Given the description of an element on the screen output the (x, y) to click on. 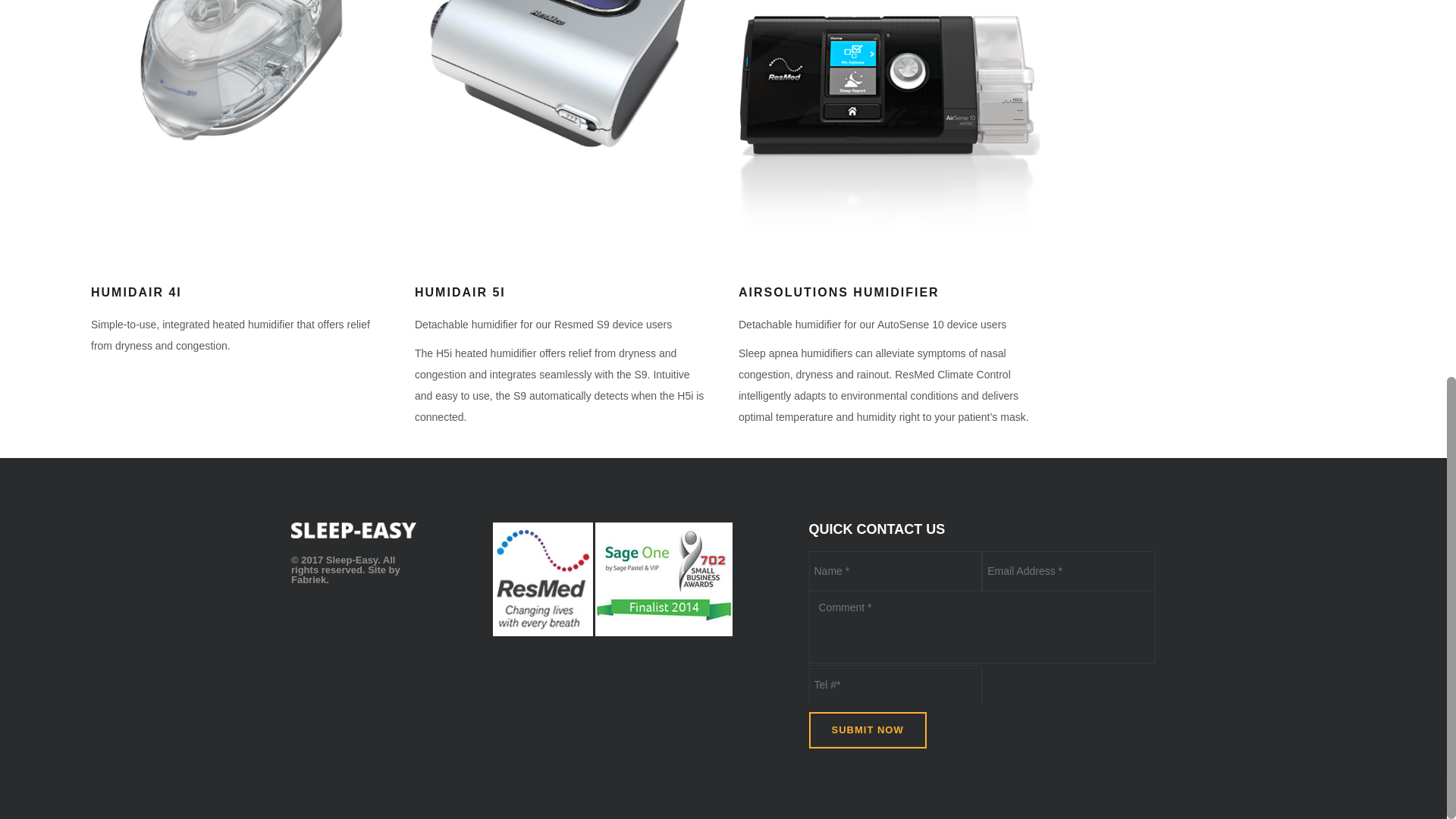
Sleep Easy (353, 530)
SUBMIT NOW (867, 729)
SUBMIT NOW (867, 729)
